Given the description of an element on the screen output the (x, y) to click on. 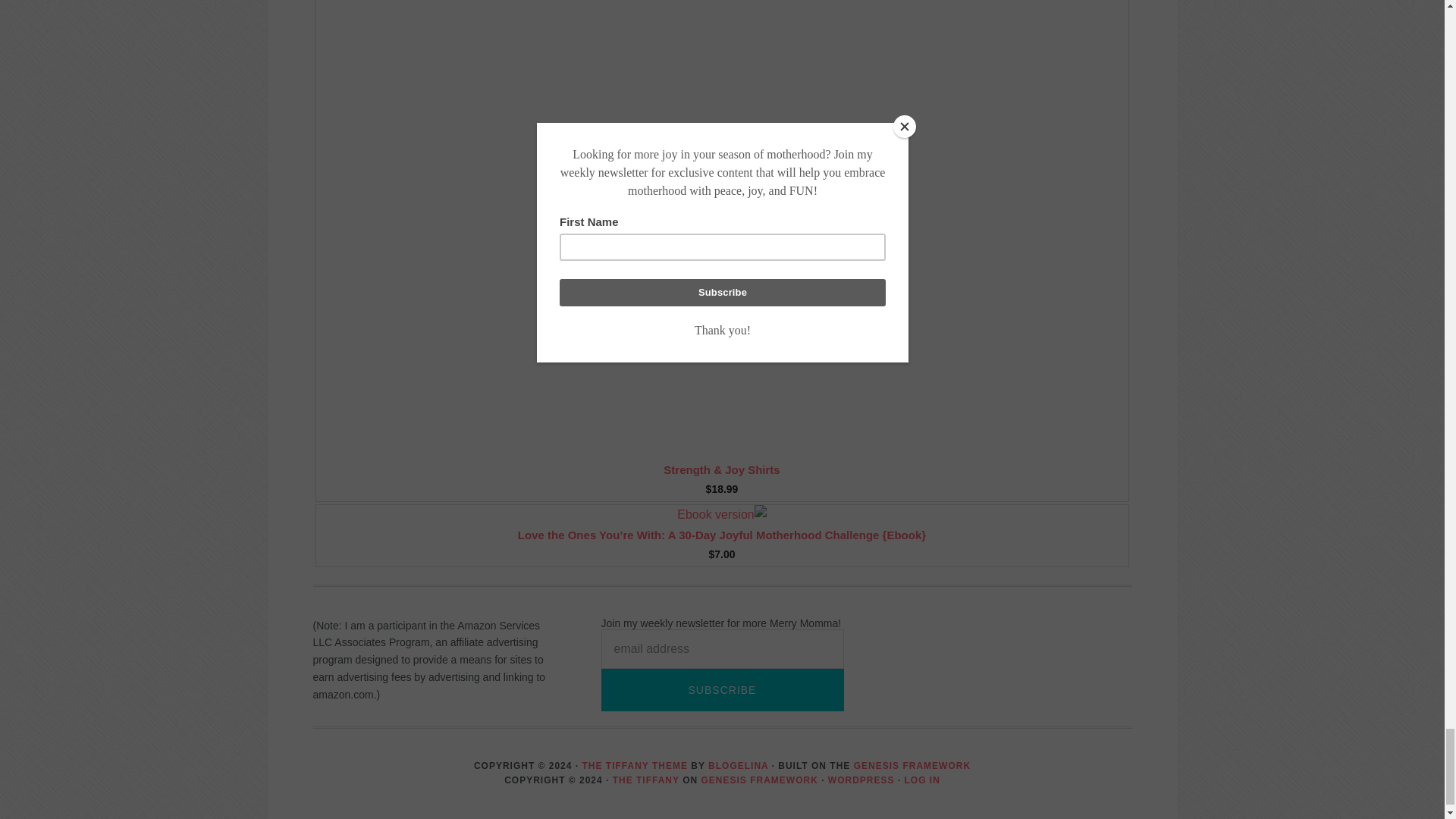
Genesis Framework (912, 765)
Subscribe (721, 689)
